Given the description of an element on the screen output the (x, y) to click on. 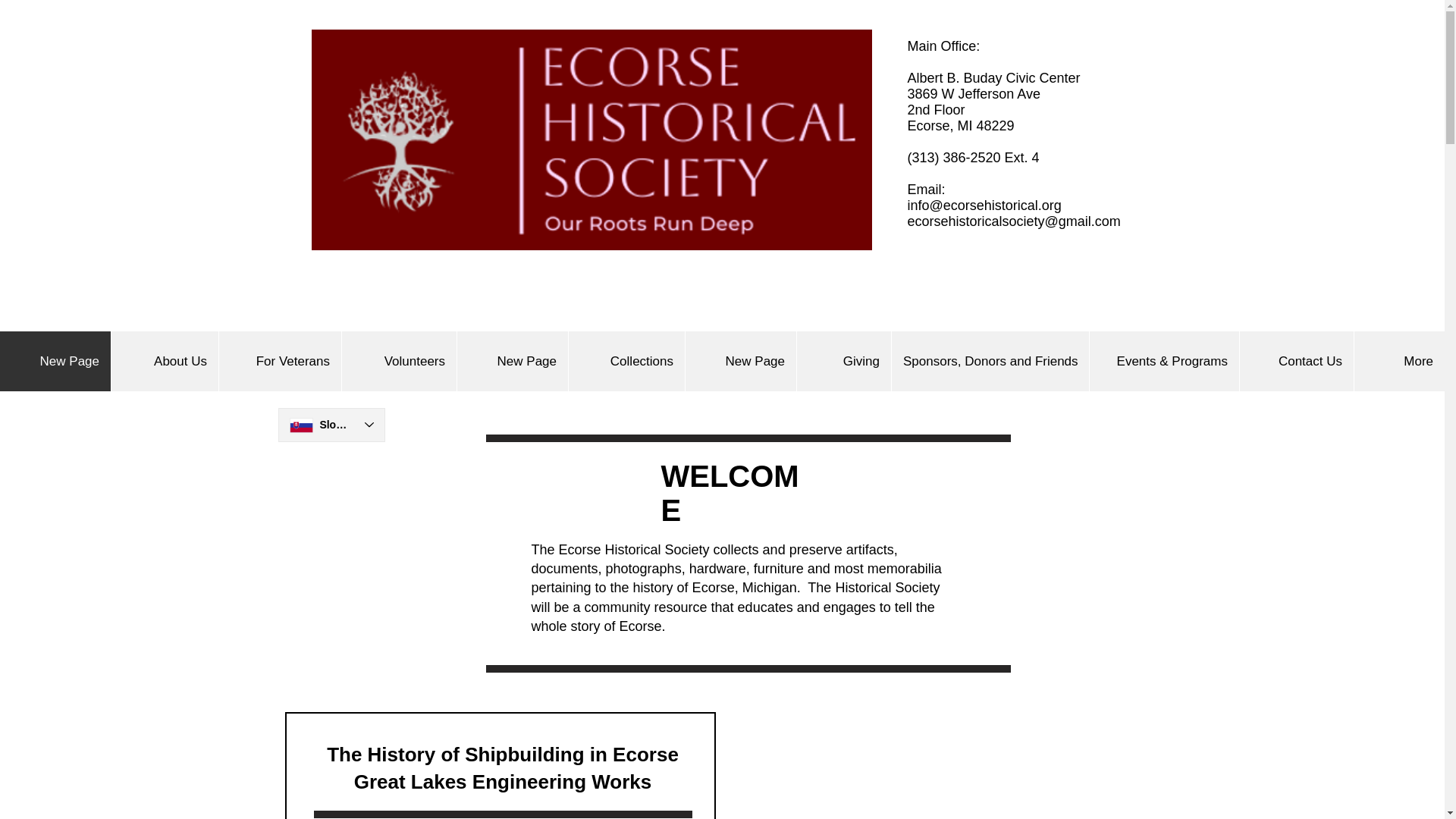
Sponsors, Donors and Friends (990, 361)
Collections (625, 361)
For Veterans (279, 361)
New Page (55, 361)
New Page (512, 361)
Giving (843, 361)
Volunteers (398, 361)
New Page (740, 361)
Contact Us (1296, 361)
About Us (164, 361)
